Given the description of an element on the screen output the (x, y) to click on. 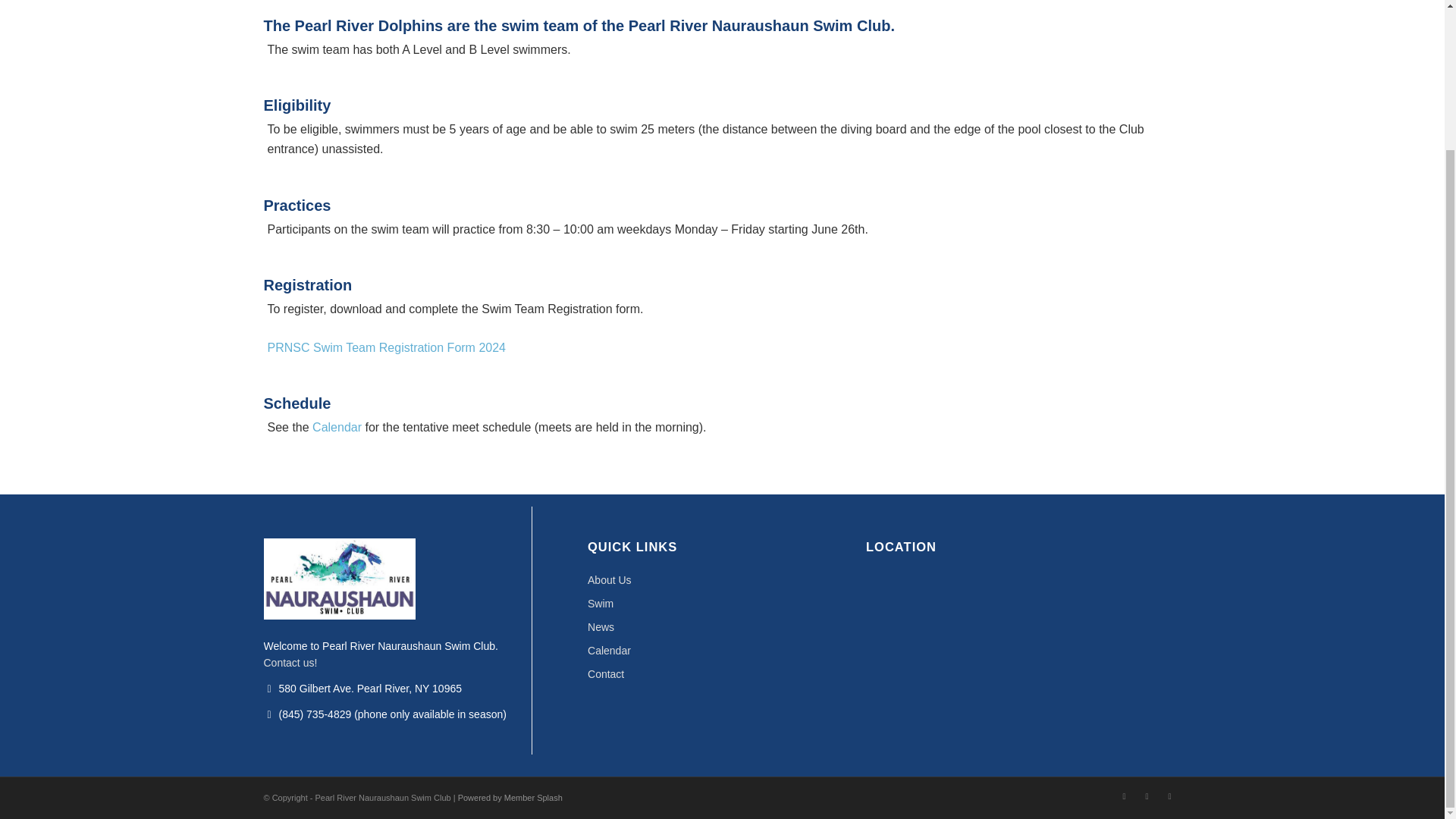
Powered by Member Splash (510, 797)
Contact (722, 674)
Facebook (1146, 795)
Calendar (722, 650)
Instagram (1124, 795)
PRNSC Swim Team Registration Form 2024 (385, 347)
News (722, 627)
X (1169, 795)
About Us (722, 580)
Swim (722, 603)
